Given the description of an element on the screen output the (x, y) to click on. 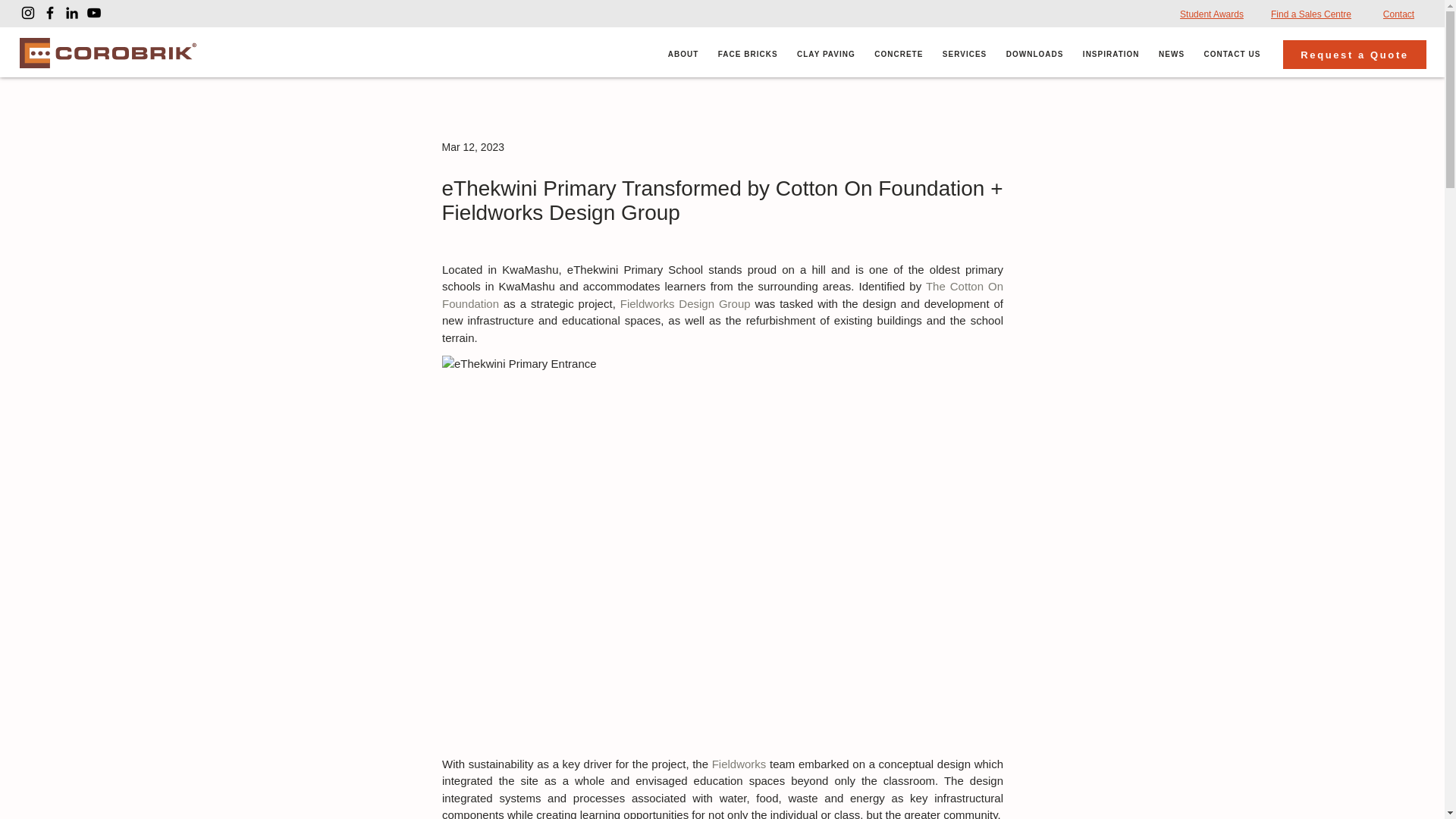
NEWS (1171, 55)
Find a Sales Centre (1311, 14)
Mar 12, 2023 (472, 146)
Request a Quote (1354, 54)
